Given the description of an element on the screen output the (x, y) to click on. 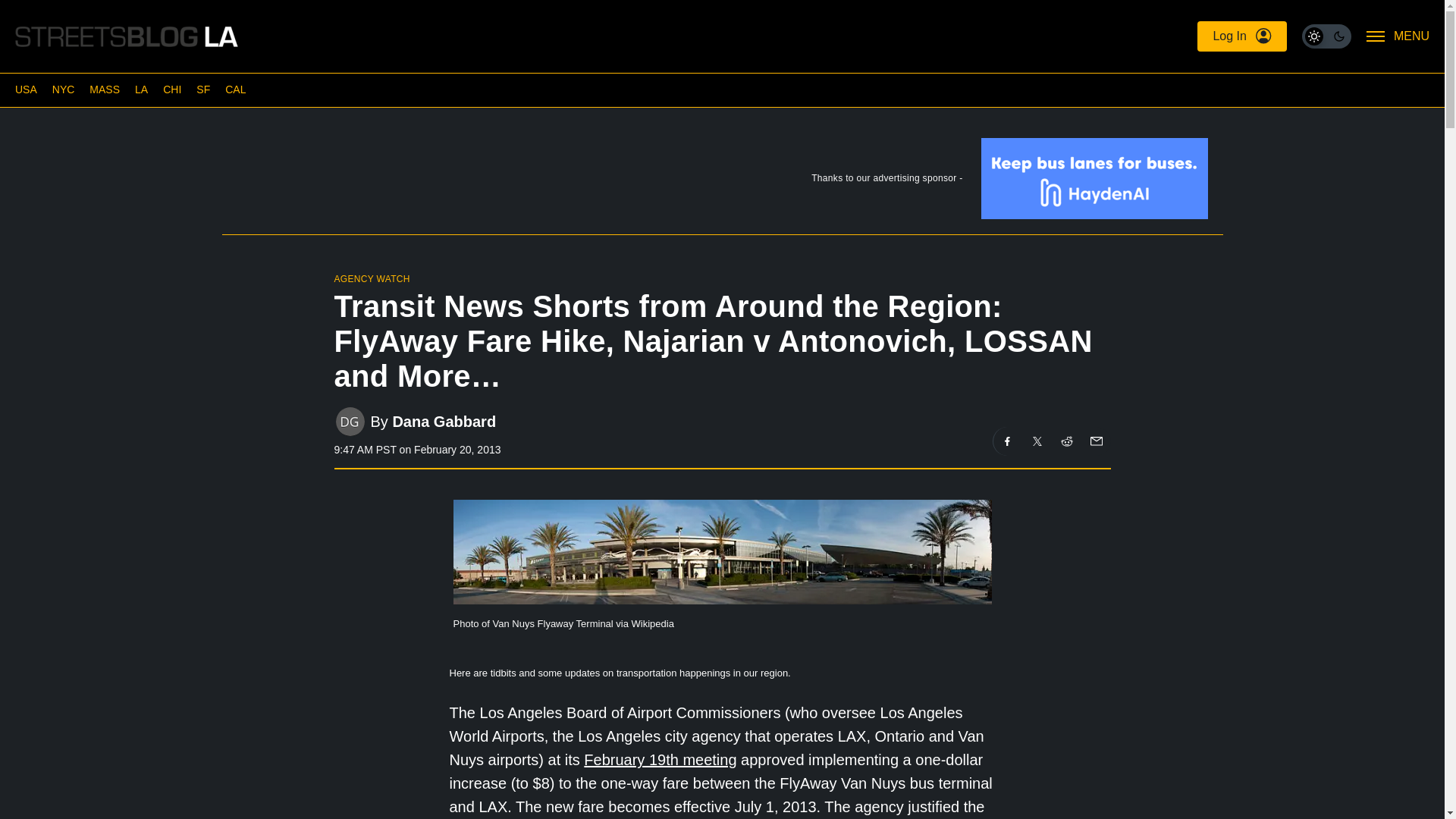
Share on Facebook (1007, 440)
MASS (103, 89)
Log In (1240, 36)
CAL (235, 89)
Thanks to our advertising sponsor - (721, 181)
Dana Gabbard (443, 421)
SF (202, 89)
USA (25, 89)
LA (141, 89)
NYC (63, 89)
AGENCY WATCH (371, 278)
CHI (171, 89)
MENU (1398, 36)
